Given the description of an element on the screen output the (x, y) to click on. 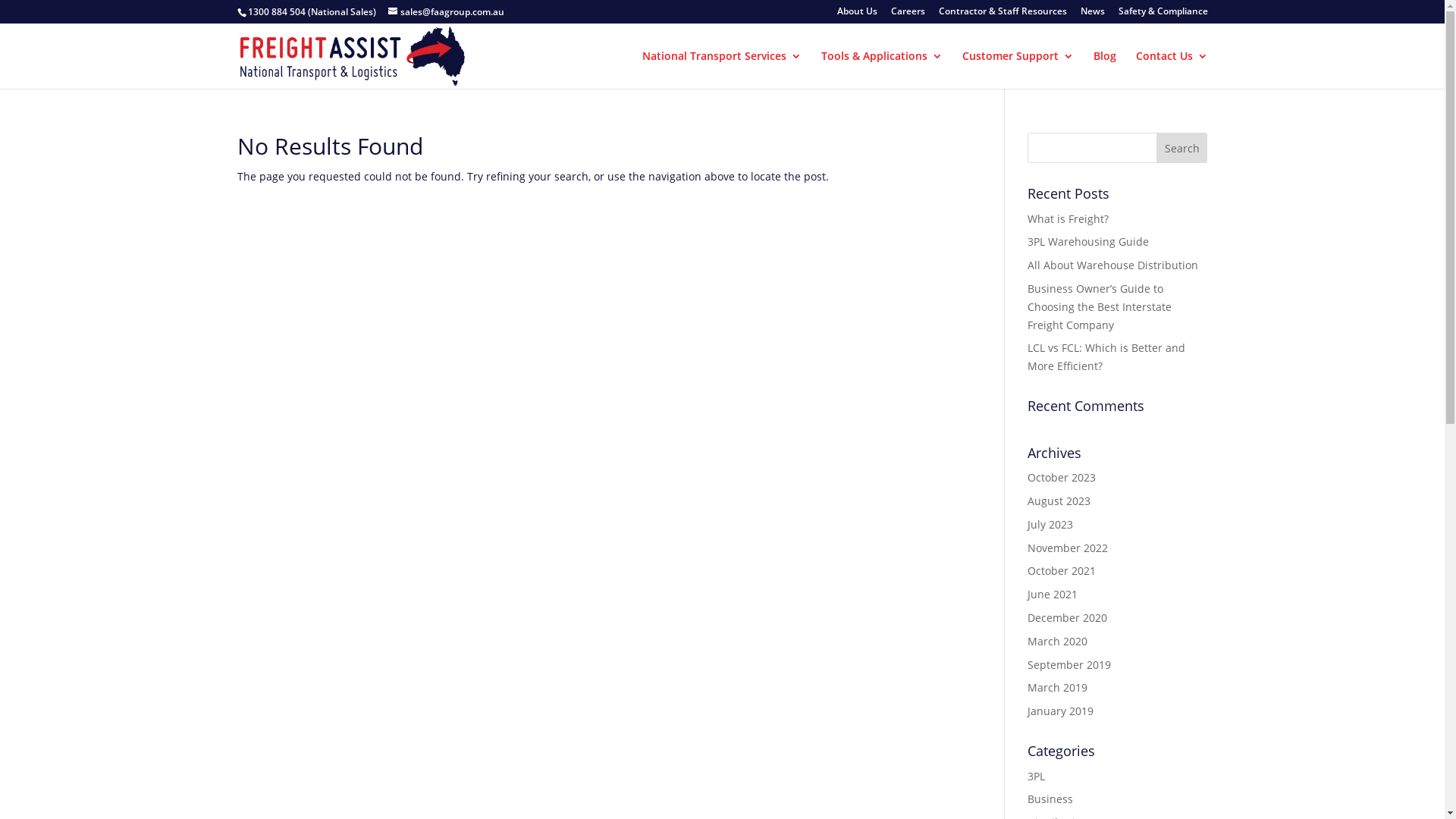
March 2019 Element type: text (1057, 687)
October 2021 Element type: text (1061, 570)
March 2020 Element type: text (1057, 640)
3PL Warehousing Guide Element type: text (1087, 241)
July 2023 Element type: text (1050, 524)
National Transport Services Element type: text (720, 69)
September 2019 Element type: text (1068, 664)
October 2023 Element type: text (1061, 477)
What is Freight? Element type: text (1067, 218)
Customer Support Element type: text (1017, 69)
Contact Us Element type: text (1171, 69)
August 2023 Element type: text (1058, 500)
News Element type: text (1091, 14)
Contractor & Staff Resources Element type: text (1002, 14)
Tools & Applications Element type: text (880, 69)
sales@faagroup.com.au Element type: text (446, 11)
All About Warehouse Distribution Element type: text (1112, 264)
LCL vs FCL: Which is Better and More Efficient? Element type: text (1106, 356)
June 2021 Element type: text (1052, 593)
Safety & Compliance Element type: text (1162, 14)
3PL Element type: text (1035, 775)
1300 884 504 (National Sales) Element type: text (310, 11)
Careers Element type: text (907, 14)
Search Element type: text (1182, 147)
January 2019 Element type: text (1060, 710)
Business Element type: text (1050, 798)
December 2020 Element type: text (1067, 617)
Blog Element type: text (1104, 69)
November 2022 Element type: text (1067, 547)
About Us Element type: text (857, 14)
